Given the description of an element on the screen output the (x, y) to click on. 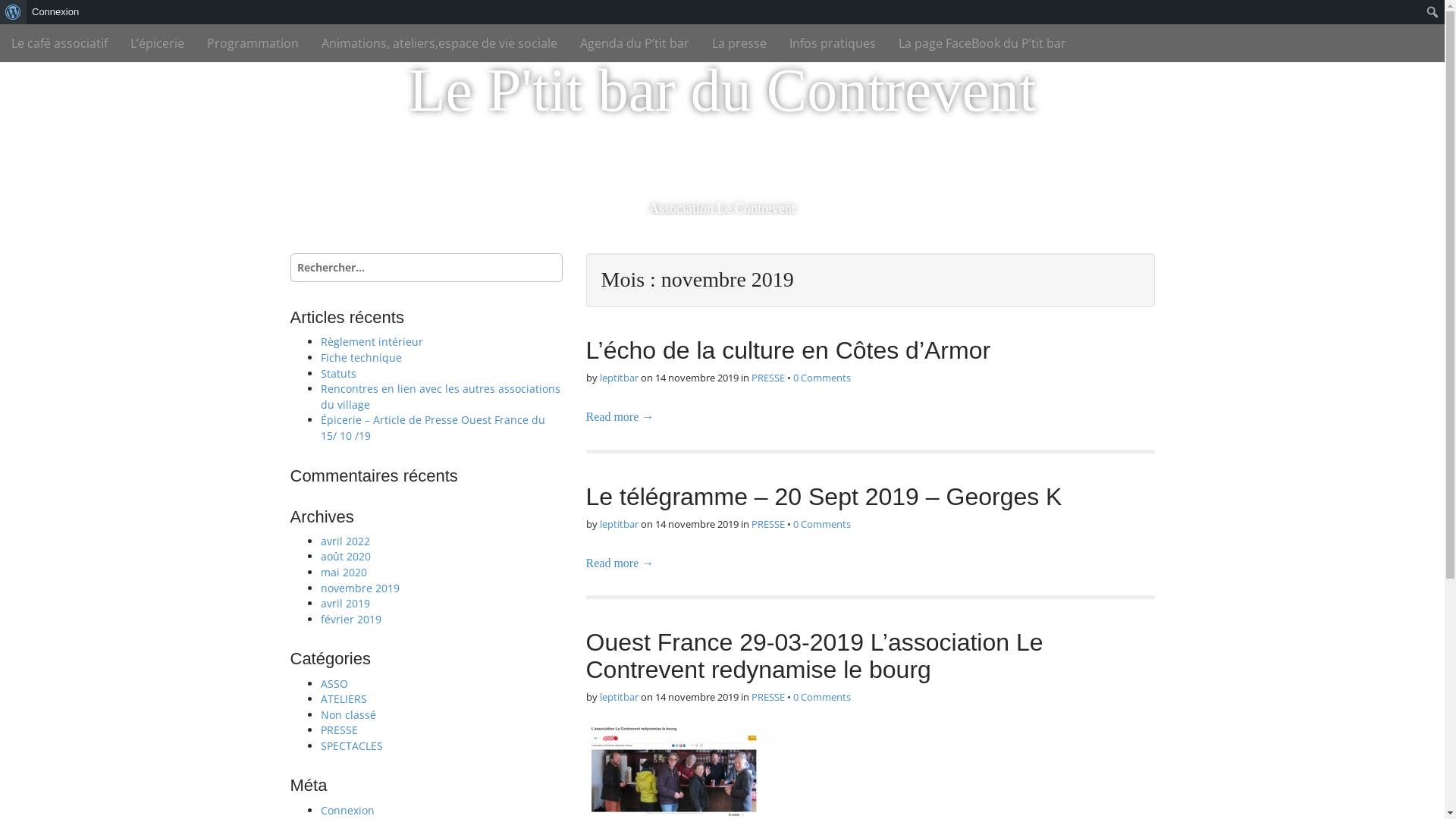
SPECTACLES Element type: text (351, 745)
14 novembre 2019 Element type: text (696, 696)
Le P'tit bar du Contrevent Element type: text (722, 90)
ATELIERS Element type: text (343, 698)
PRESSE Element type: text (767, 523)
Programmation Element type: text (252, 43)
14 novembre 2019 Element type: text (696, 523)
leptitbar Element type: text (618, 523)
ASSO Element type: text (333, 683)
La presse Element type: text (739, 43)
Connexion Element type: text (346, 810)
Rechercher Element type: text (26, 12)
Fiche technique Element type: text (360, 357)
0 Comments Element type: text (821, 523)
Animations, ateliers,espace de vie sociale Element type: text (439, 43)
leptitbar Element type: text (618, 377)
Connexion Element type: text (55, 12)
leptitbar Element type: text (618, 696)
PRESSE Element type: text (338, 729)
14 novembre 2019 Element type: text (696, 377)
novembre 2019 Element type: text (359, 587)
PRESSE Element type: text (767, 696)
Rencontres en lien avec les autres associations du village Element type: text (439, 396)
Statuts Element type: text (337, 373)
0 Comments Element type: text (821, 696)
0 Comments Element type: text (821, 377)
avril 2019 Element type: text (344, 603)
avril 2022 Element type: text (344, 540)
Rechercher Element type: text (36, 14)
mai 2020 Element type: text (343, 571)
PRESSE Element type: text (767, 377)
Infos pratiques Element type: text (832, 43)
